Given the description of an element on the screen output the (x, y) to click on. 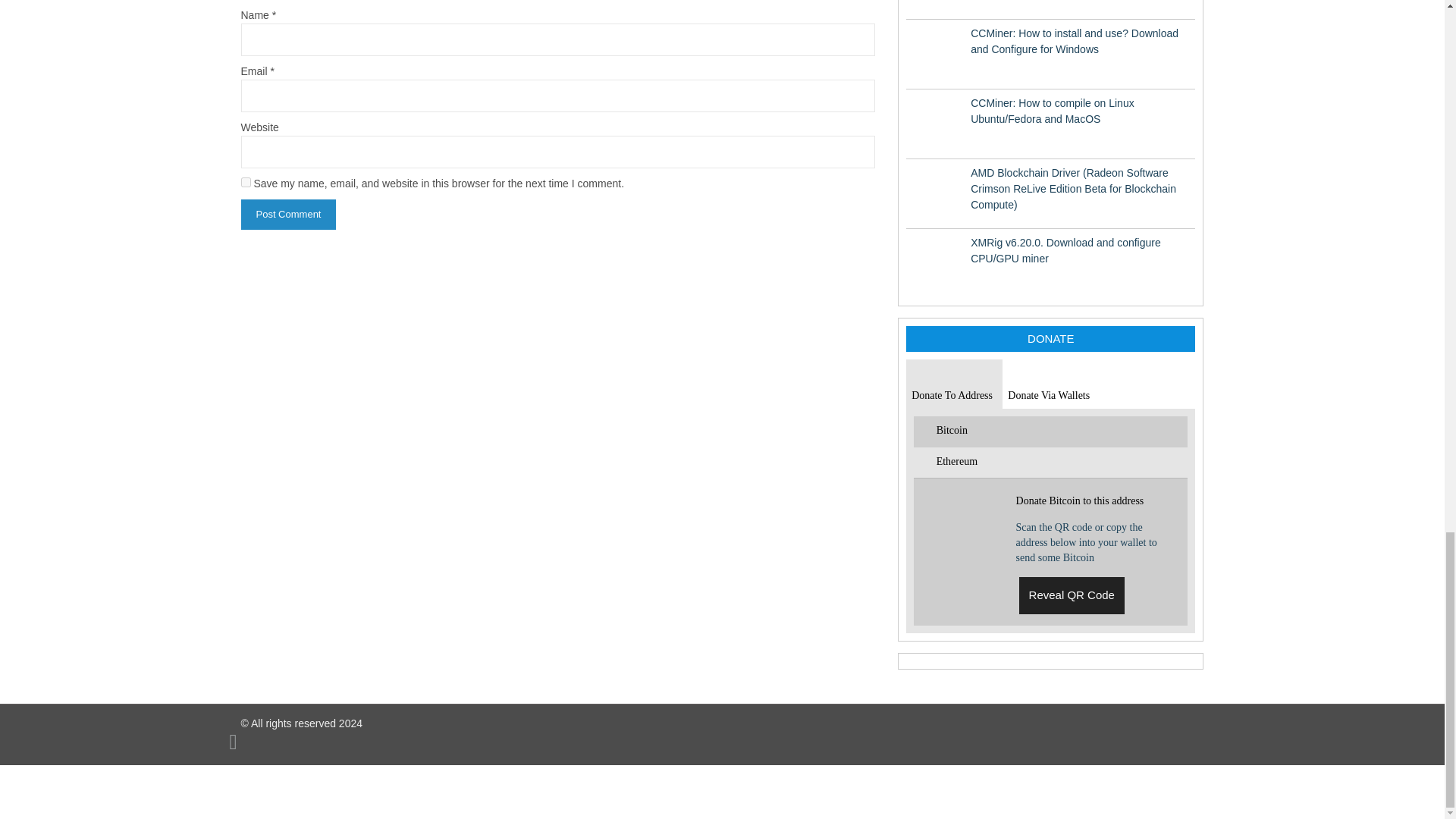
Post Comment (288, 214)
yes (245, 182)
